Given the description of an element on the screen output the (x, y) to click on. 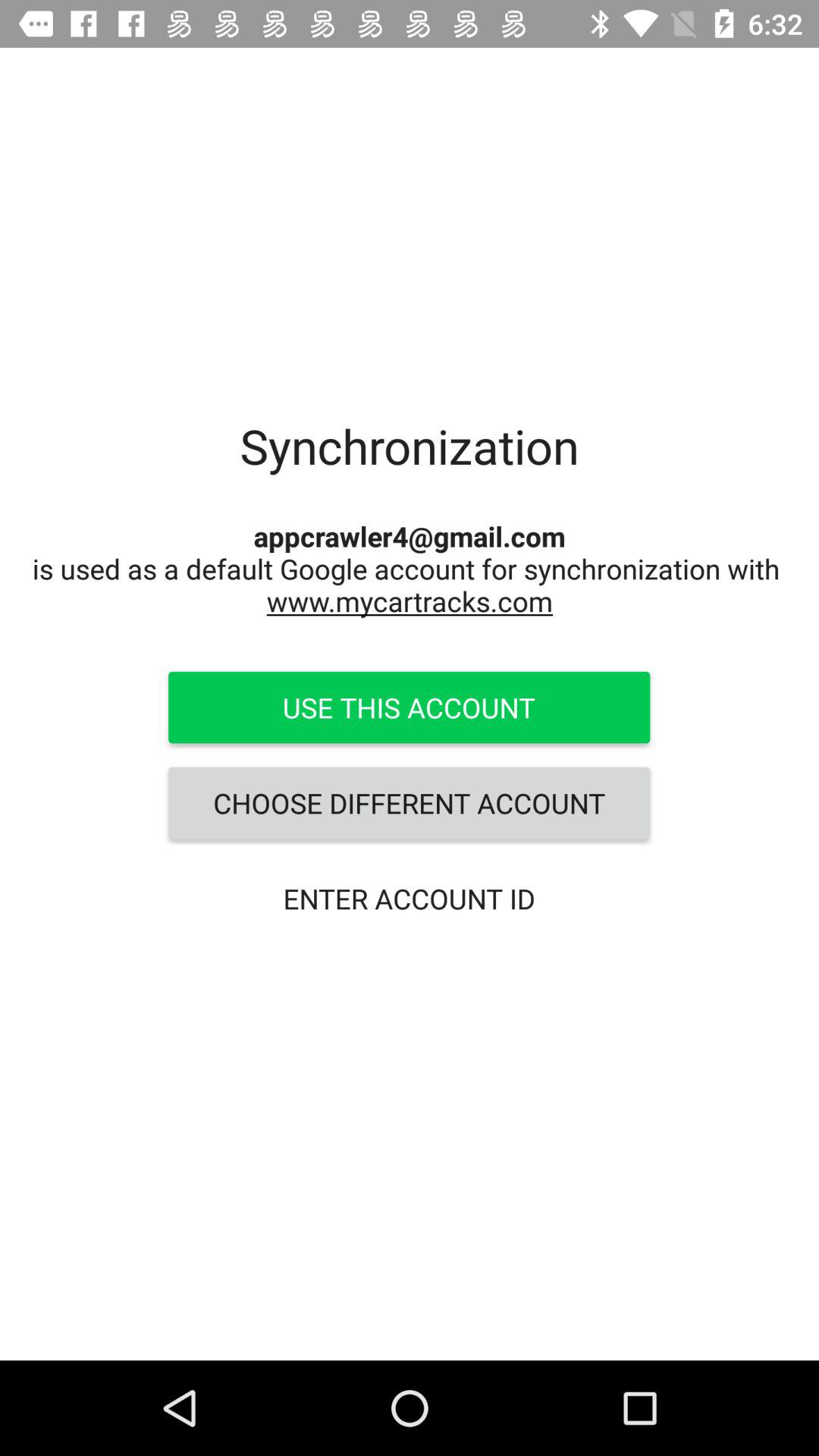
click item below the choose different account item (409, 898)
